Given the description of an element on the screen output the (x, y) to click on. 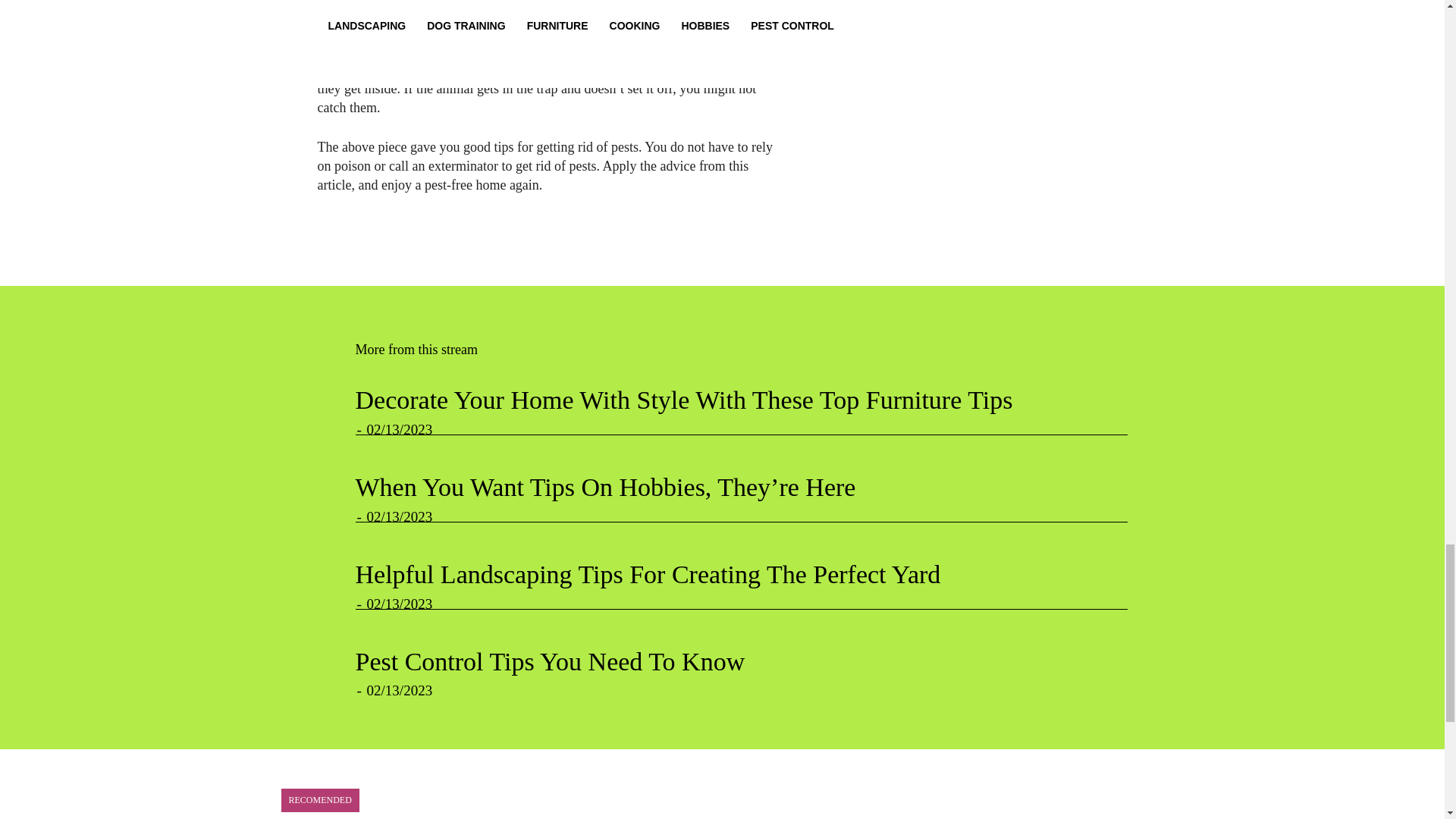
Pest Control Tips You Need To Know (549, 661)
Helpful Landscaping Tips For Creating The Perfect Yard (647, 574)
Decorate Your Home With Style With These Top Furniture Tips (683, 399)
Decorate Your Home With Style With These Top Furniture Tips (683, 399)
Helpful Landscaping Tips For Creating The Perfect Yard (647, 574)
